Given the description of an element on the screen output the (x, y) to click on. 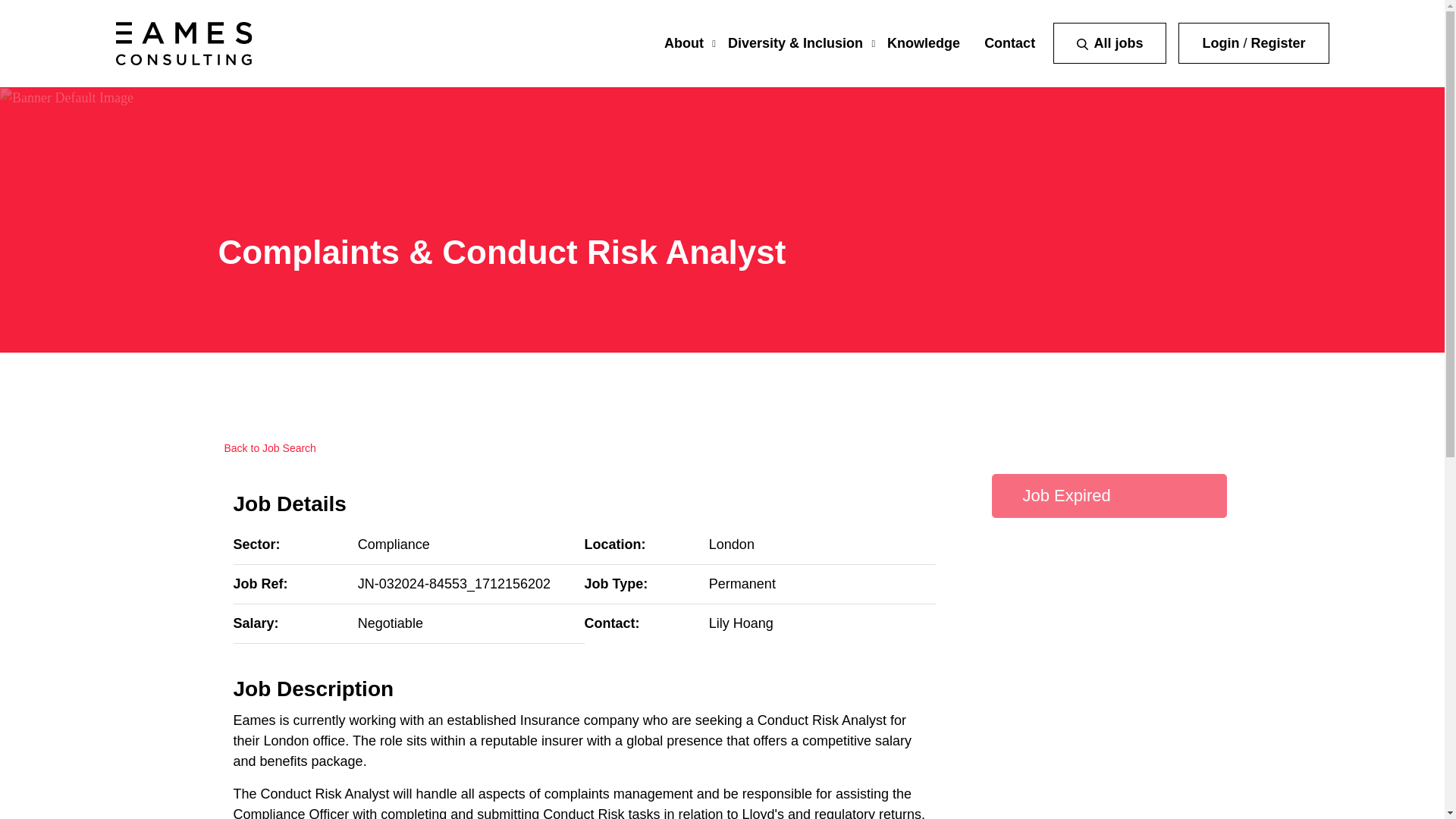
search (1082, 43)
Login (1220, 43)
Permanent (742, 583)
Register (1277, 43)
Contact (1009, 43)
Job Expired (1109, 495)
Compliance (393, 544)
search All jobs (1109, 42)
Back to Job Search (266, 448)
Knowledge (922, 43)
